Given the description of an element on the screen output the (x, y) to click on. 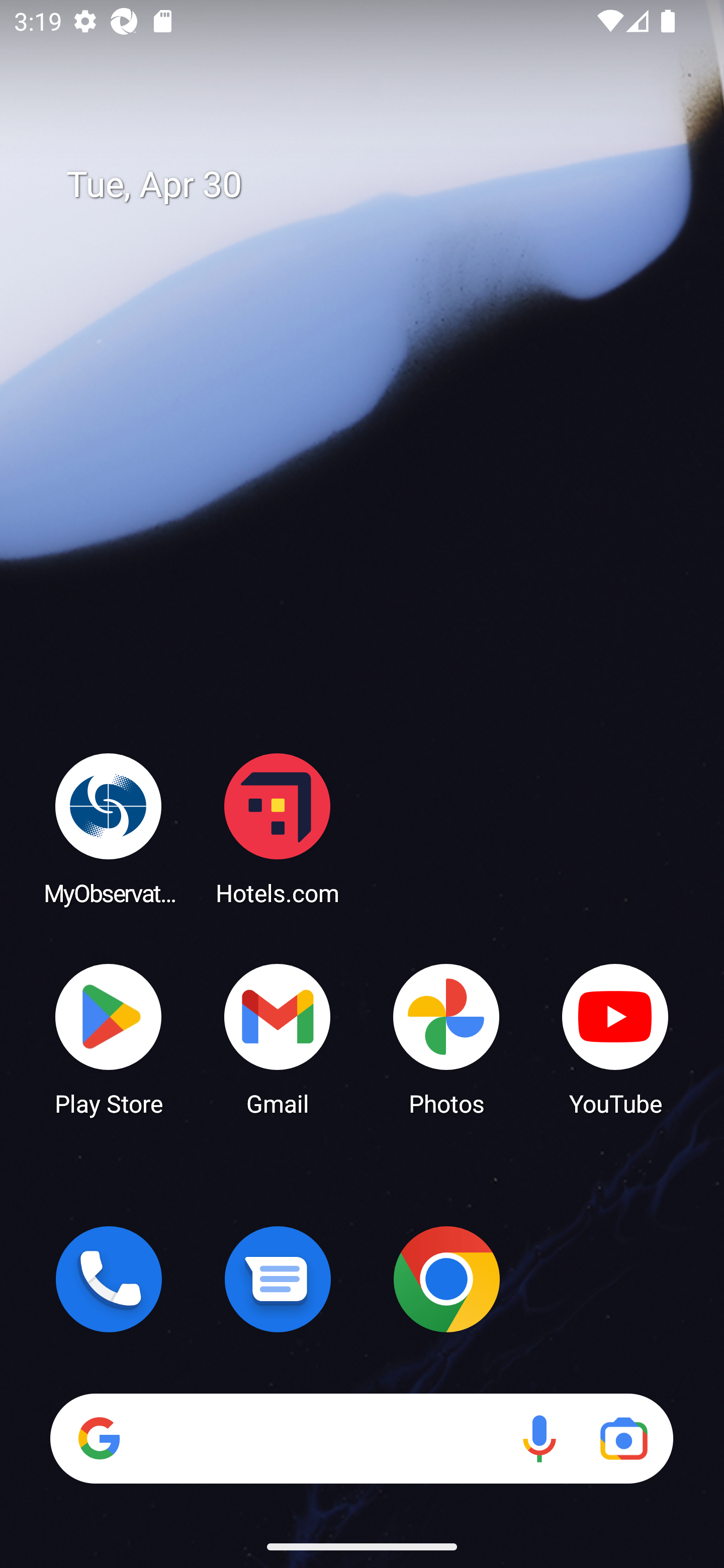
Tue, Apr 30 (375, 184)
MyObservatory (108, 828)
Hotels.com (277, 828)
Play Store (108, 1038)
Gmail (277, 1038)
Photos (445, 1038)
YouTube (615, 1038)
Phone (108, 1279)
Messages (277, 1279)
Chrome (446, 1279)
Voice search (539, 1438)
Google Lens (623, 1438)
